Given the description of an element on the screen output the (x, y) to click on. 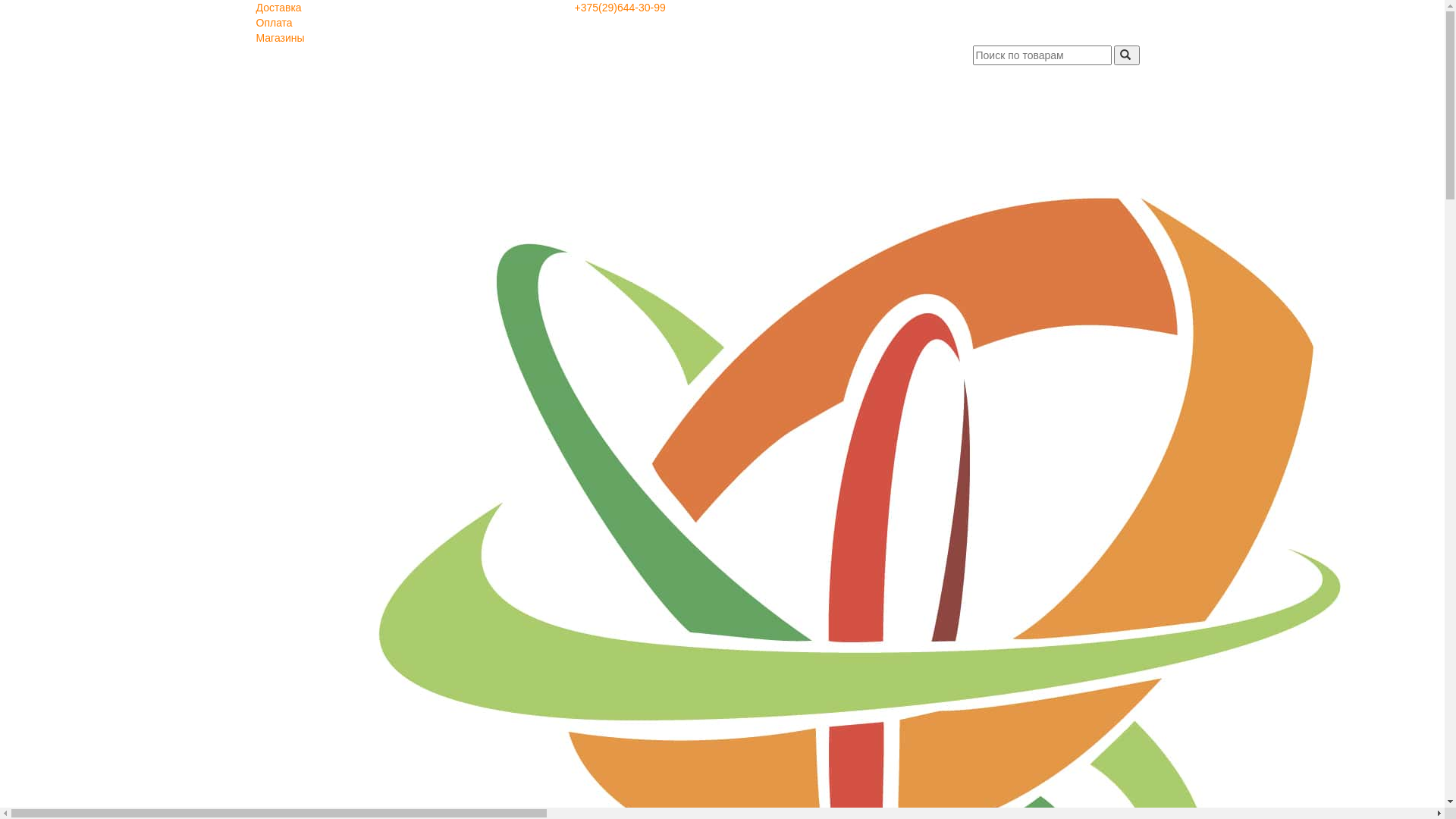
  Element type: text (1126, 55)
+375(29)644-30-99 Element type: text (619, 7)
